Given the description of an element on the screen output the (x, y) to click on. 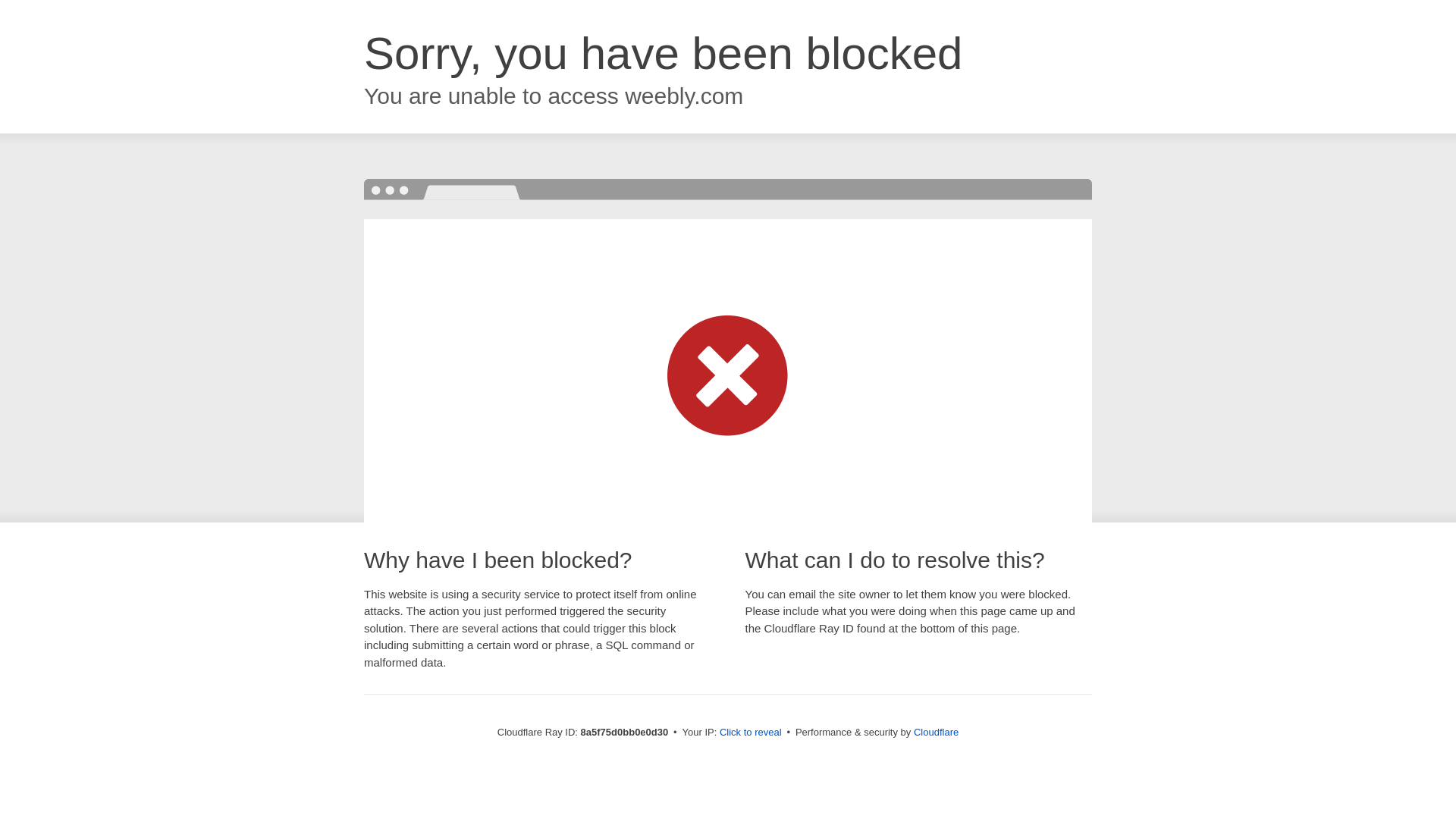
Cloudflare (936, 731)
Click to reveal (750, 732)
